Given the description of an element on the screen output the (x, y) to click on. 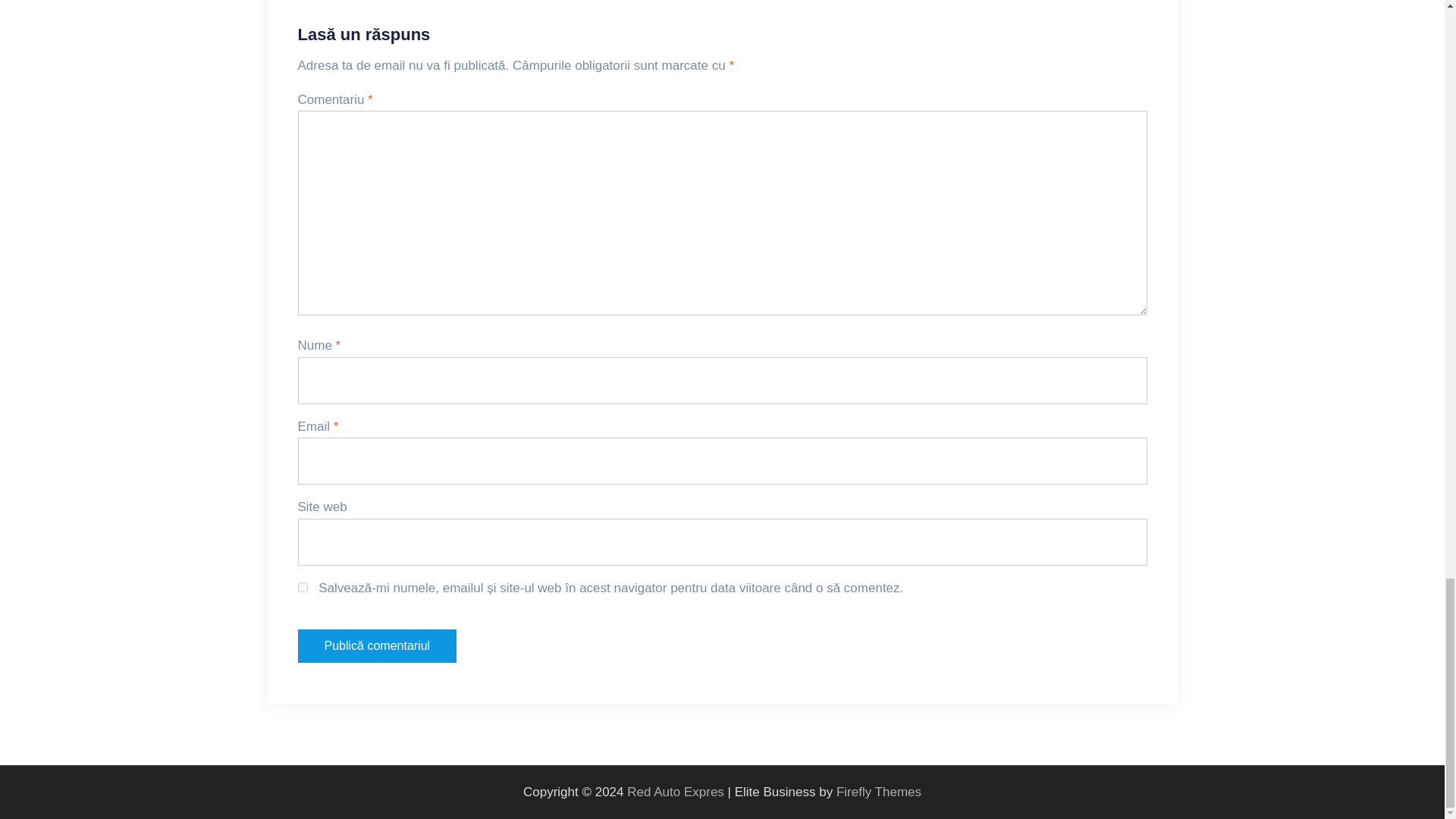
Firefly Themes (878, 791)
Red Auto Expres (675, 791)
yes (302, 587)
